Given the description of an element on the screen output the (x, y) to click on. 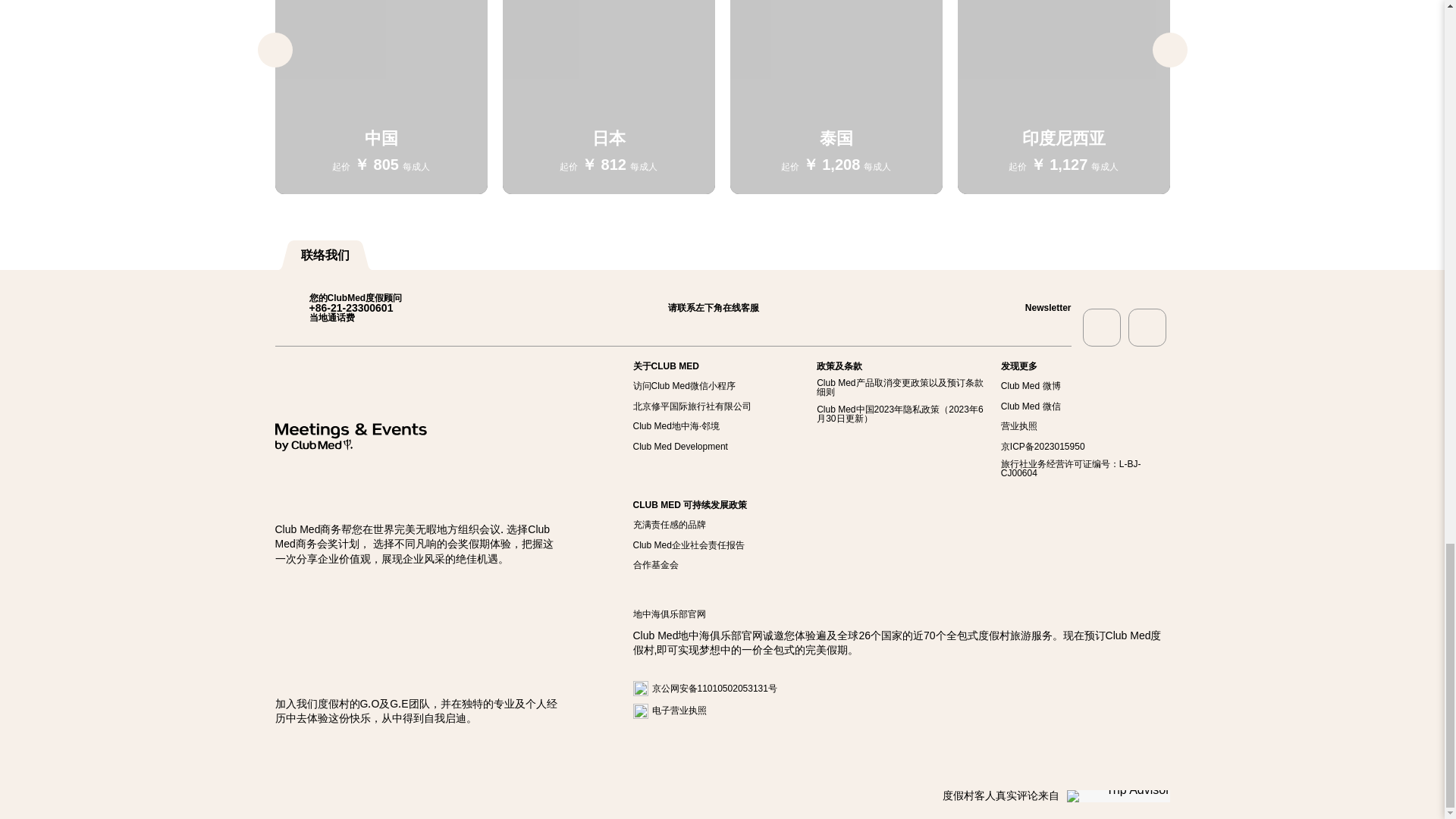
Newsletter (1031, 307)
